Given the description of an element on the screen output the (x, y) to click on. 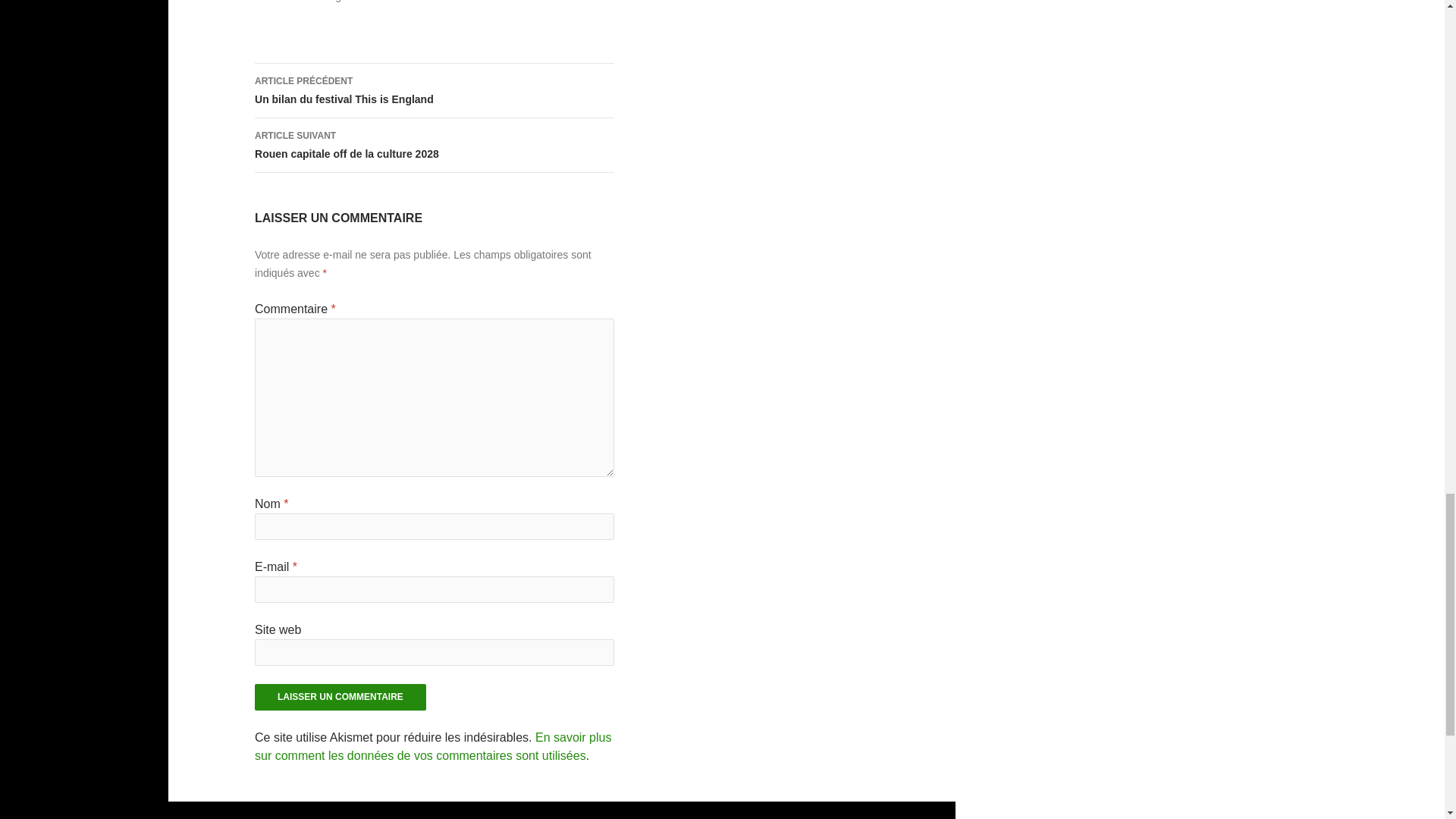
Laisser un commentaire (340, 696)
Laisser un commentaire (434, 144)
